Given the description of an element on the screen output the (x, y) to click on. 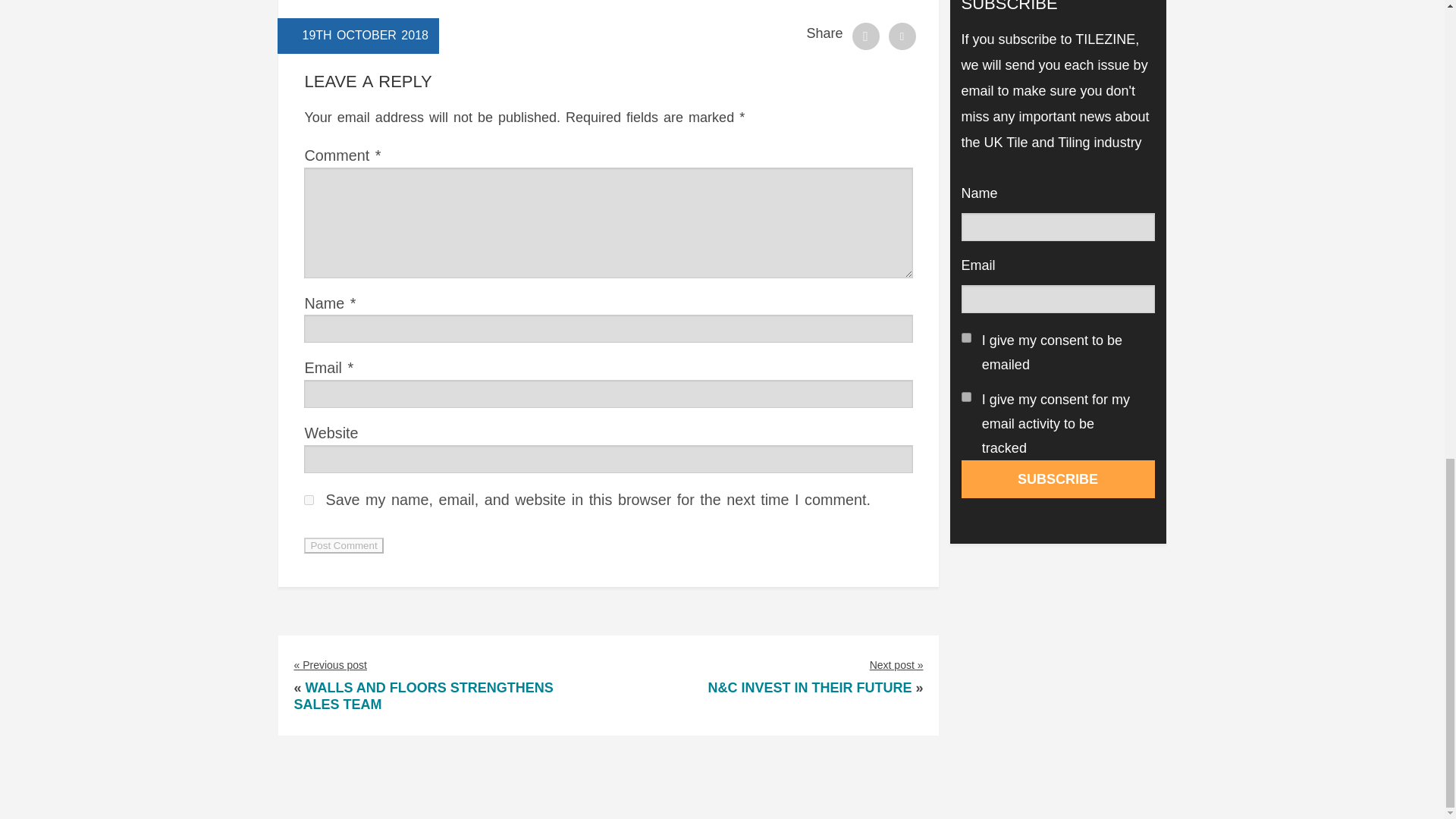
Post Comment (343, 545)
on (965, 397)
on (965, 337)
Post Comment (343, 545)
WALLS AND FLOORS STRENGTHENS SALES TEAM (423, 695)
yes (309, 500)
19TH OCTOBER 2018 (364, 34)
